Given the description of an element on the screen output the (x, y) to click on. 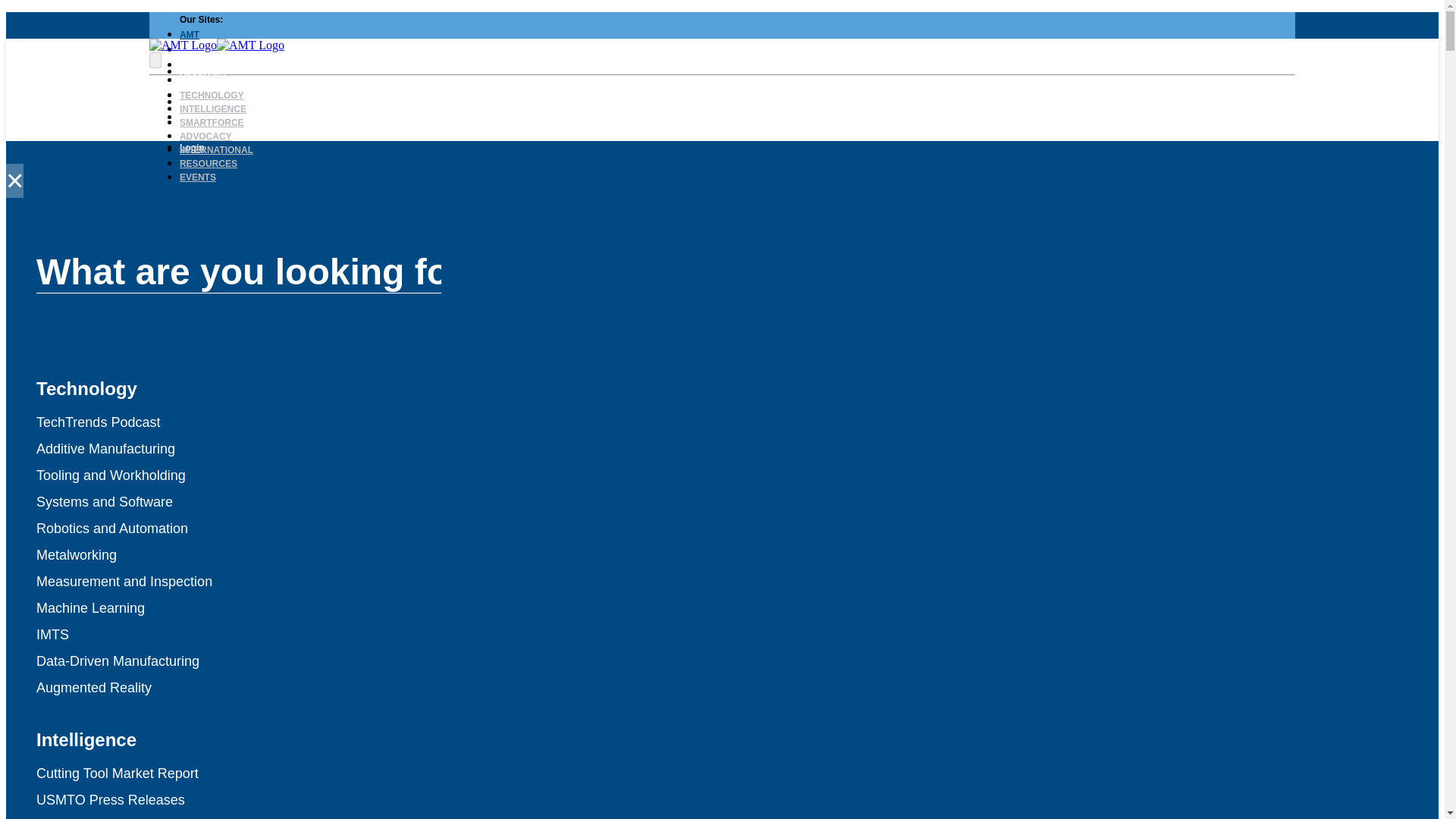
MTConnect (203, 64)
Get Involved (353, 86)
Our Board (303, 86)
INTERNATIONAL (216, 149)
SMARTFORCE (211, 122)
Leadership (256, 86)
RESOURCES (208, 163)
Who We Are (205, 86)
Member Directory (291, 132)
INTELLIGENCE (212, 109)
